Given the description of an element on the screen output the (x, y) to click on. 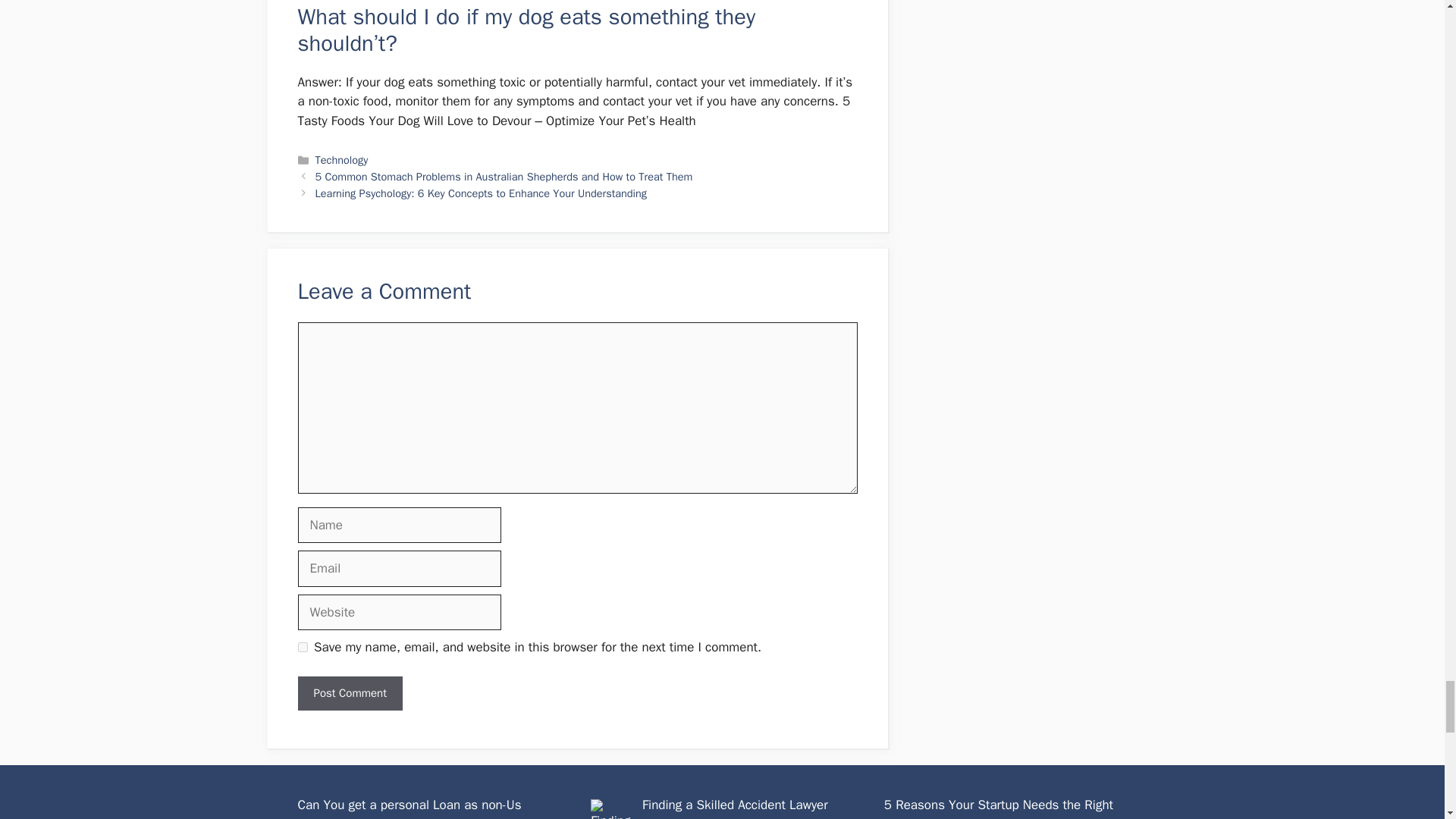
Technology (341, 160)
Post Comment (349, 693)
Post Comment (349, 693)
yes (302, 646)
